Given the description of an element on the screen output the (x, y) to click on. 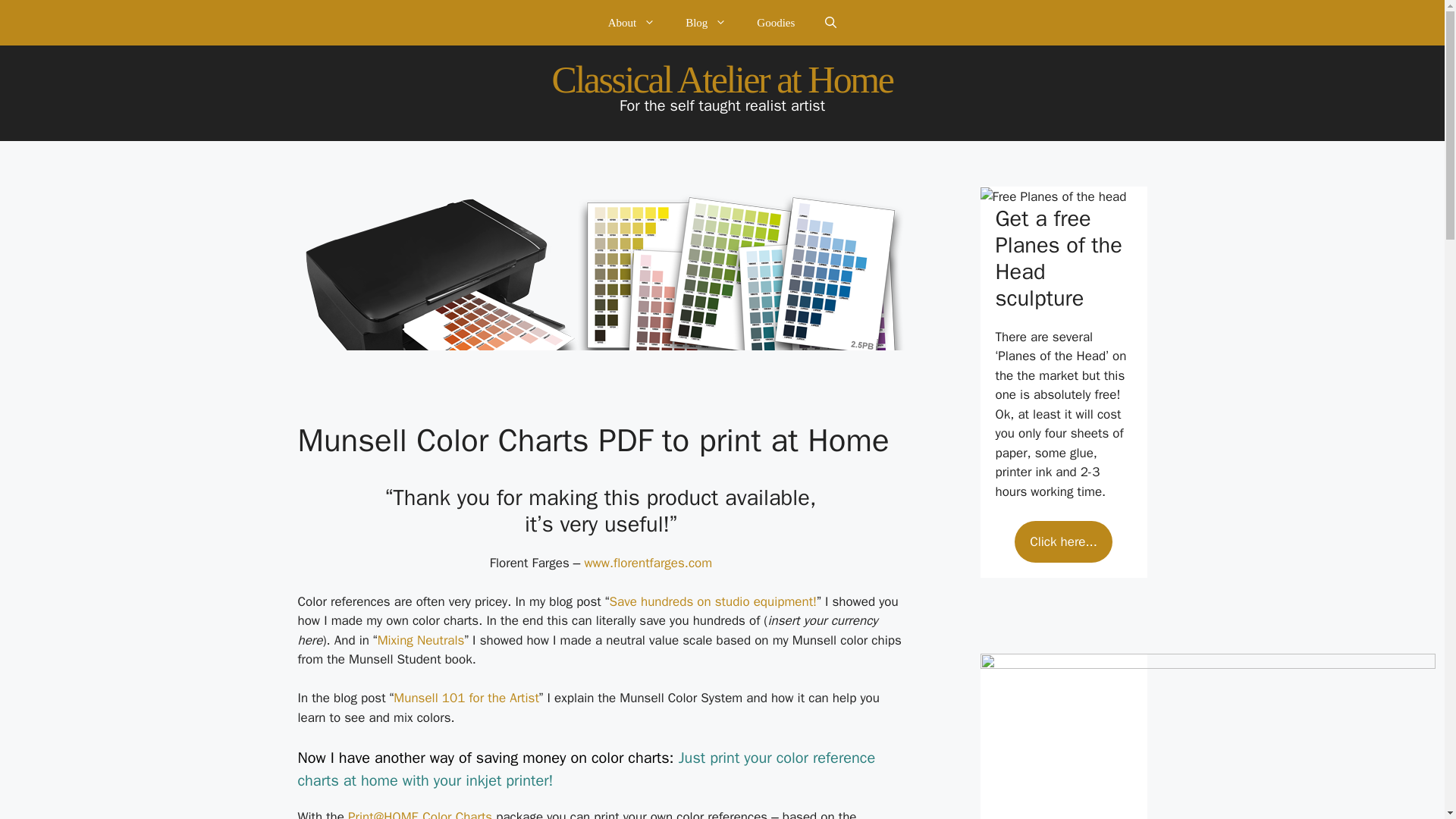
Munsell 101 for the Artist (465, 697)
Goodies (775, 22)
www.florentfarges.com (647, 562)
Mixing Neutrals (420, 640)
Save hundreds on studio equipment! (713, 601)
Classical Atelier at Home (722, 79)
Click here... (1063, 541)
About (631, 22)
Blog (705, 22)
